Given the description of an element on the screen output the (x, y) to click on. 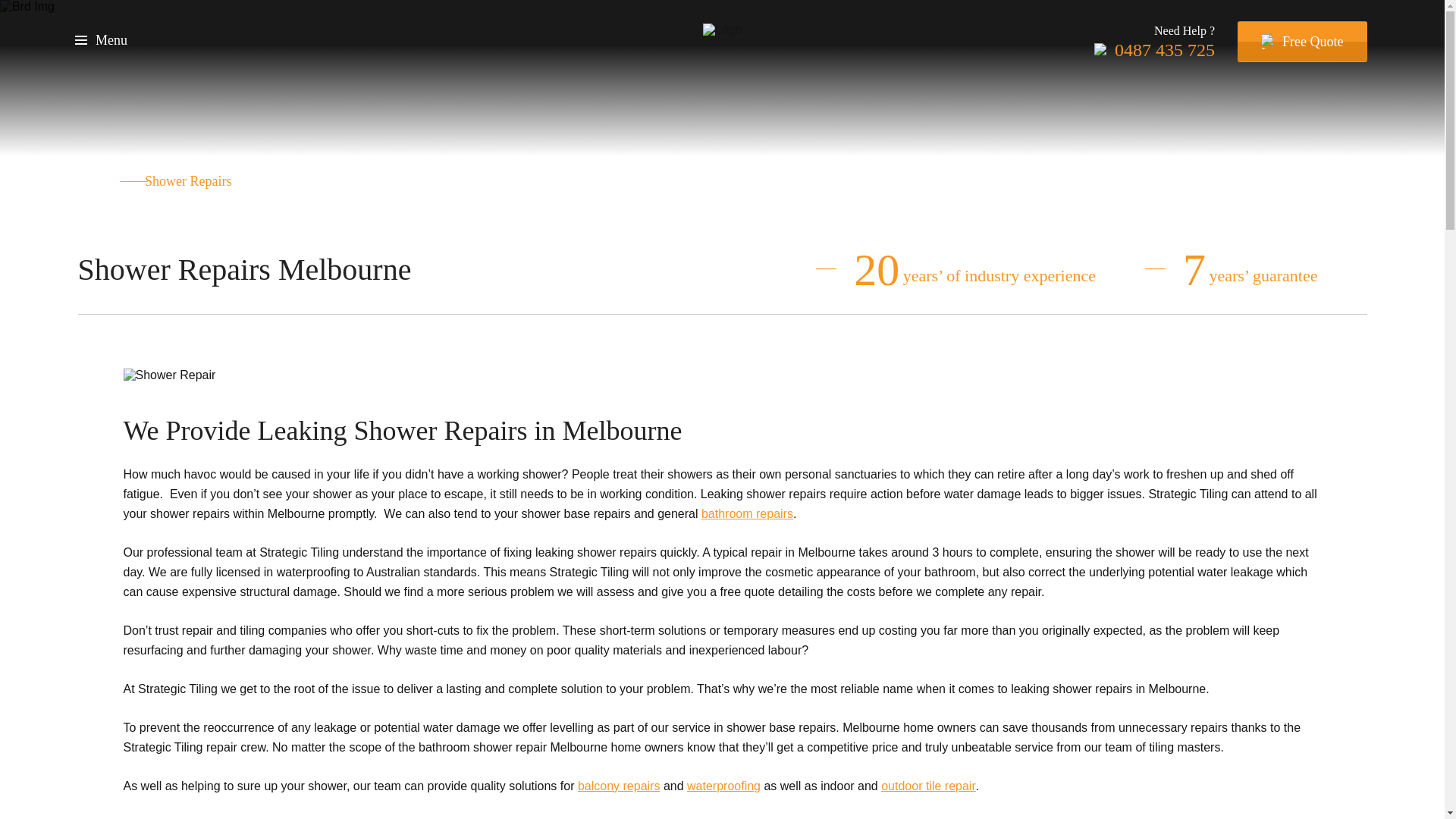
outdoor tile repair (927, 786)
Click here (1012, 816)
balcony repairs (619, 786)
Free Quote (1302, 41)
Home (93, 181)
waterproofing (723, 786)
bathroom repairs (747, 514)
0487 435 725 (1154, 49)
